Given the description of an element on the screen output the (x, y) to click on. 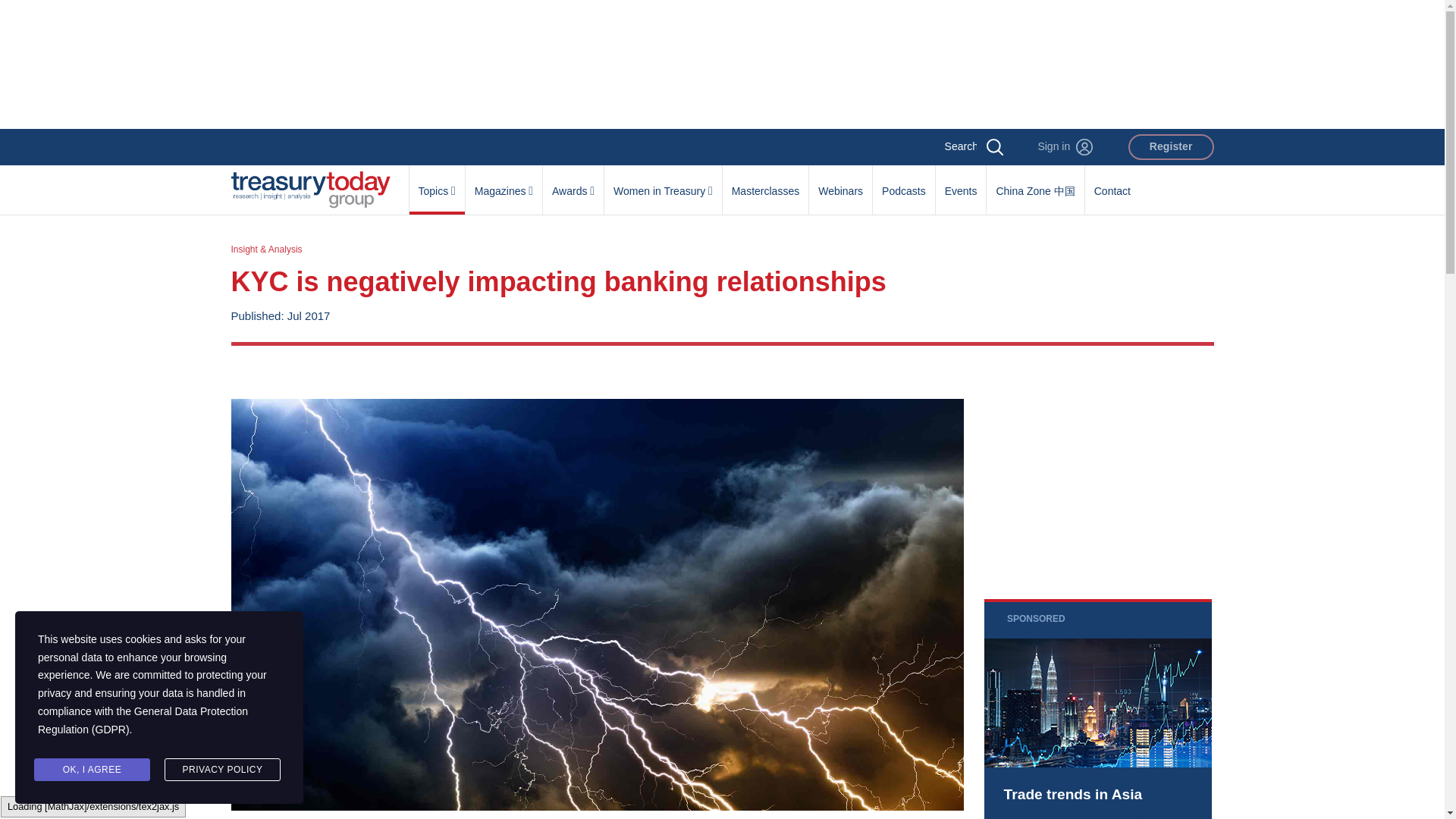
Webinars (840, 182)
3rd party ad content (1097, 708)
Awards  (573, 182)
Masterclasses (765, 182)
3rd party ad content (721, 63)
Sign in (1064, 146)
Magazines  (503, 182)
Women in Treasury  (663, 182)
Register (1171, 146)
3rd party ad content (1097, 471)
Topics  (436, 182)
